Given the description of an element on the screen output the (x, y) to click on. 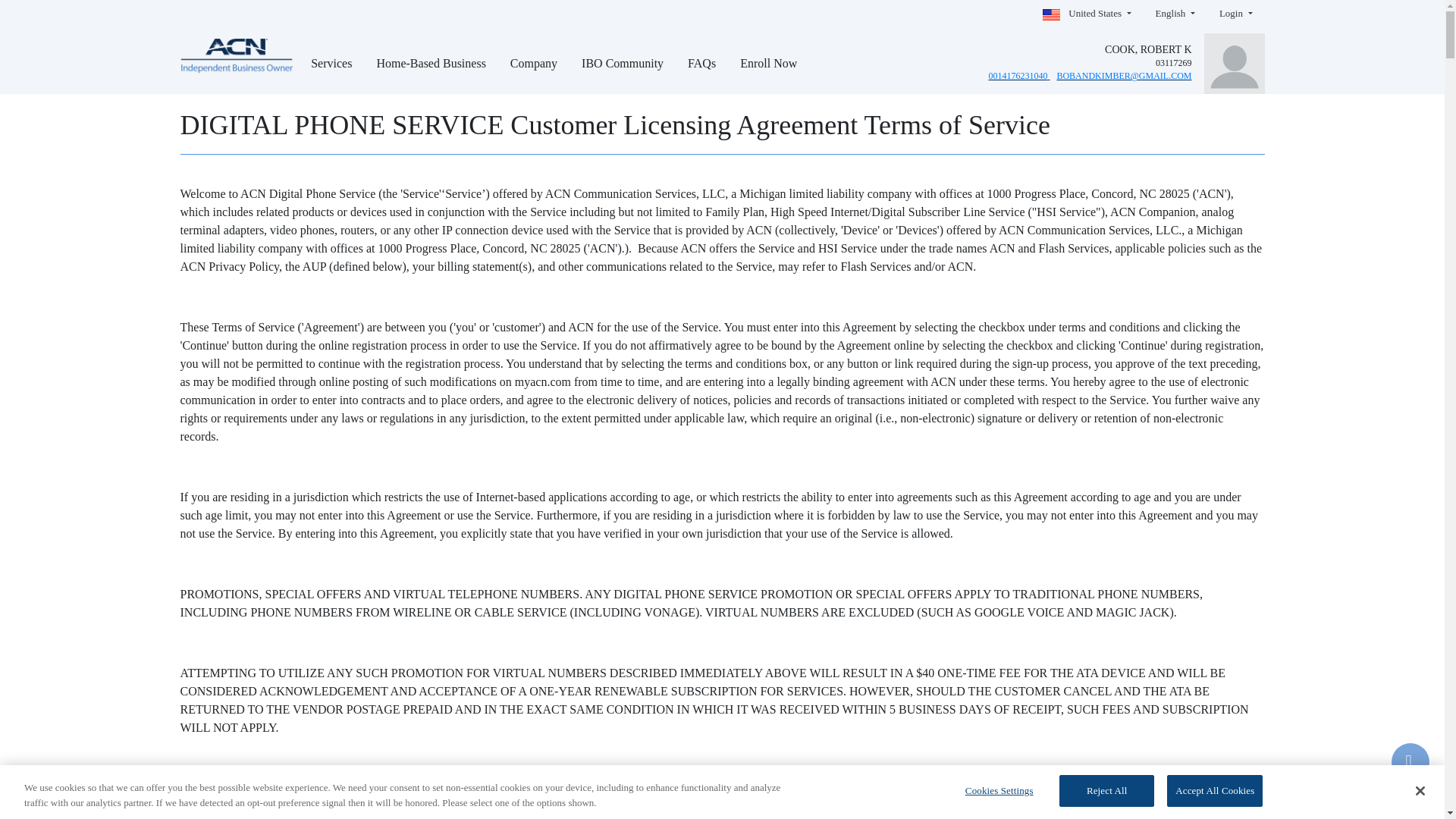
IBO Community (622, 69)
Home-Based Business (430, 69)
Go to top (1410, 761)
English (1174, 13)
Company (533, 69)
Login (1236, 13)
Services (331, 69)
United States (1086, 13)
Enroll Now (768, 69)
